Given the description of an element on the screen output the (x, y) to click on. 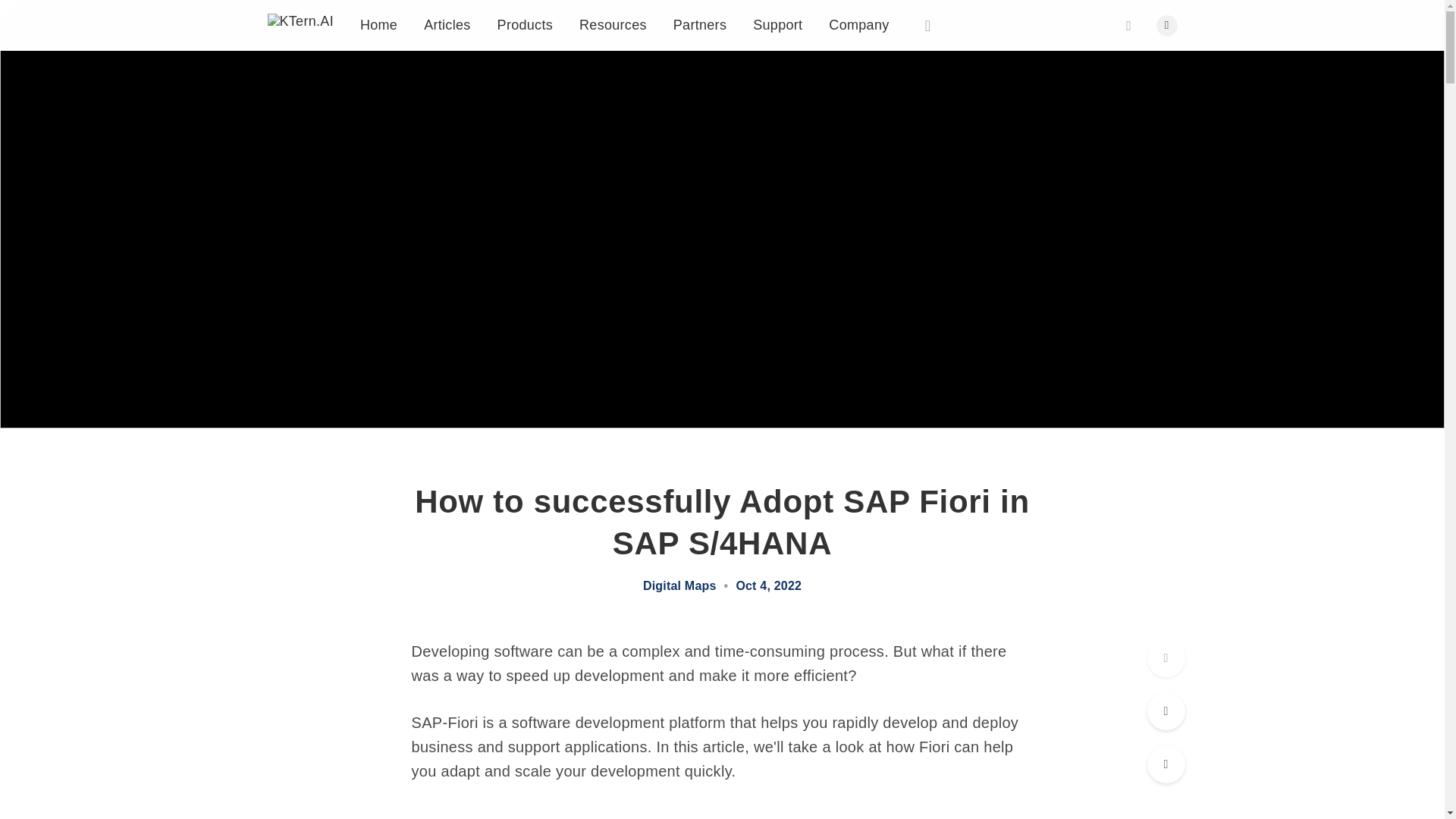
Digital Maps (679, 585)
Support (777, 24)
Partners (699, 24)
Home (378, 19)
Resources (612, 24)
Articles (446, 23)
Products (525, 23)
Company (858, 24)
